Given the description of an element on the screen output the (x, y) to click on. 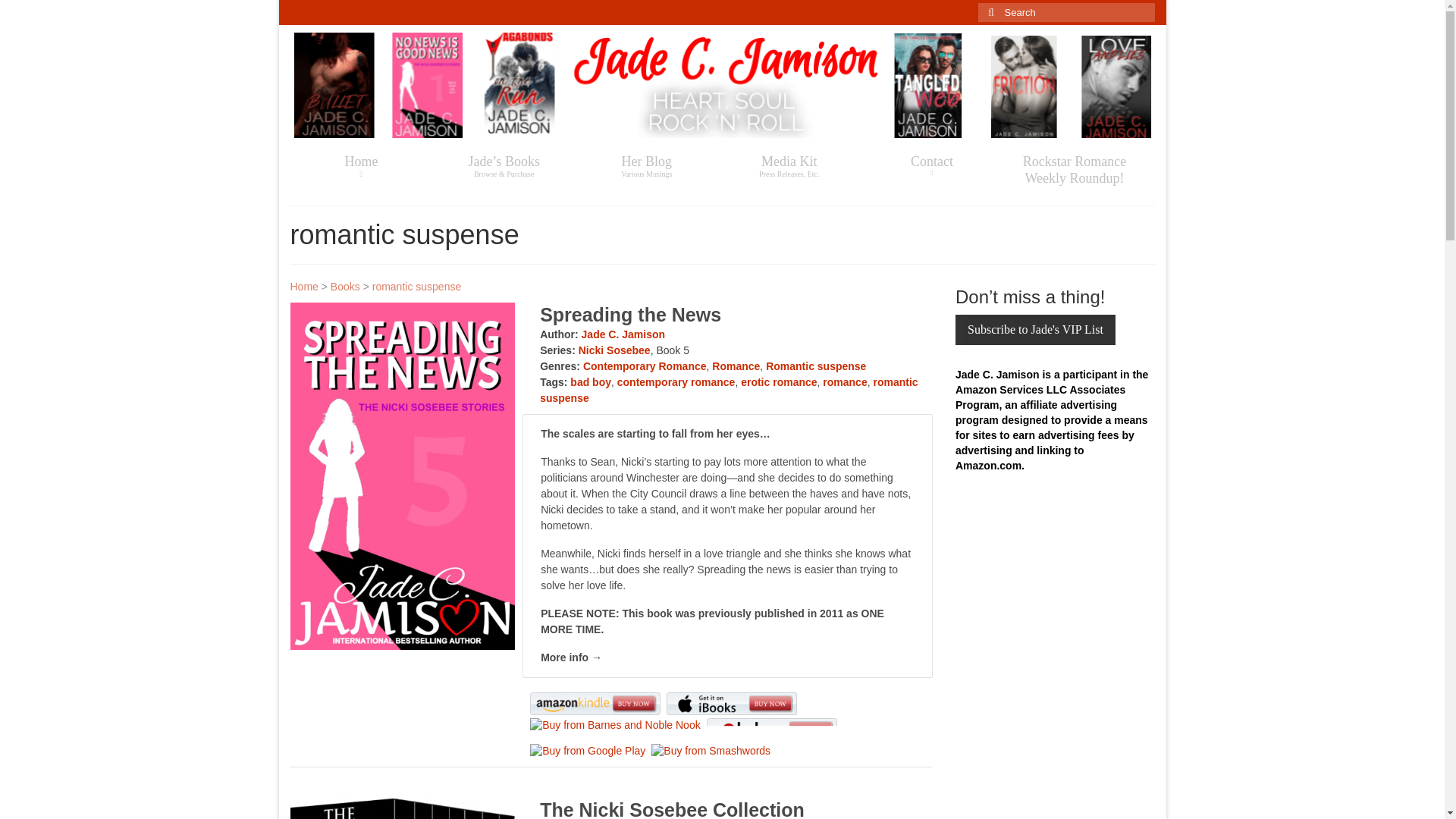
bad boy (590, 381)
Romance (735, 366)
Romantic suspense (815, 366)
Spreading the News (630, 314)
romance (844, 381)
erotic romance (778, 381)
Contemporary Romance (644, 366)
Nicki Sosebee (614, 349)
romantic suspense (416, 286)
Home (360, 165)
romantic suspense (728, 389)
Jade C. Jamison (622, 334)
Books (788, 165)
The Nicki Sosebee Collection (344, 286)
